Given the description of an element on the screen output the (x, y) to click on. 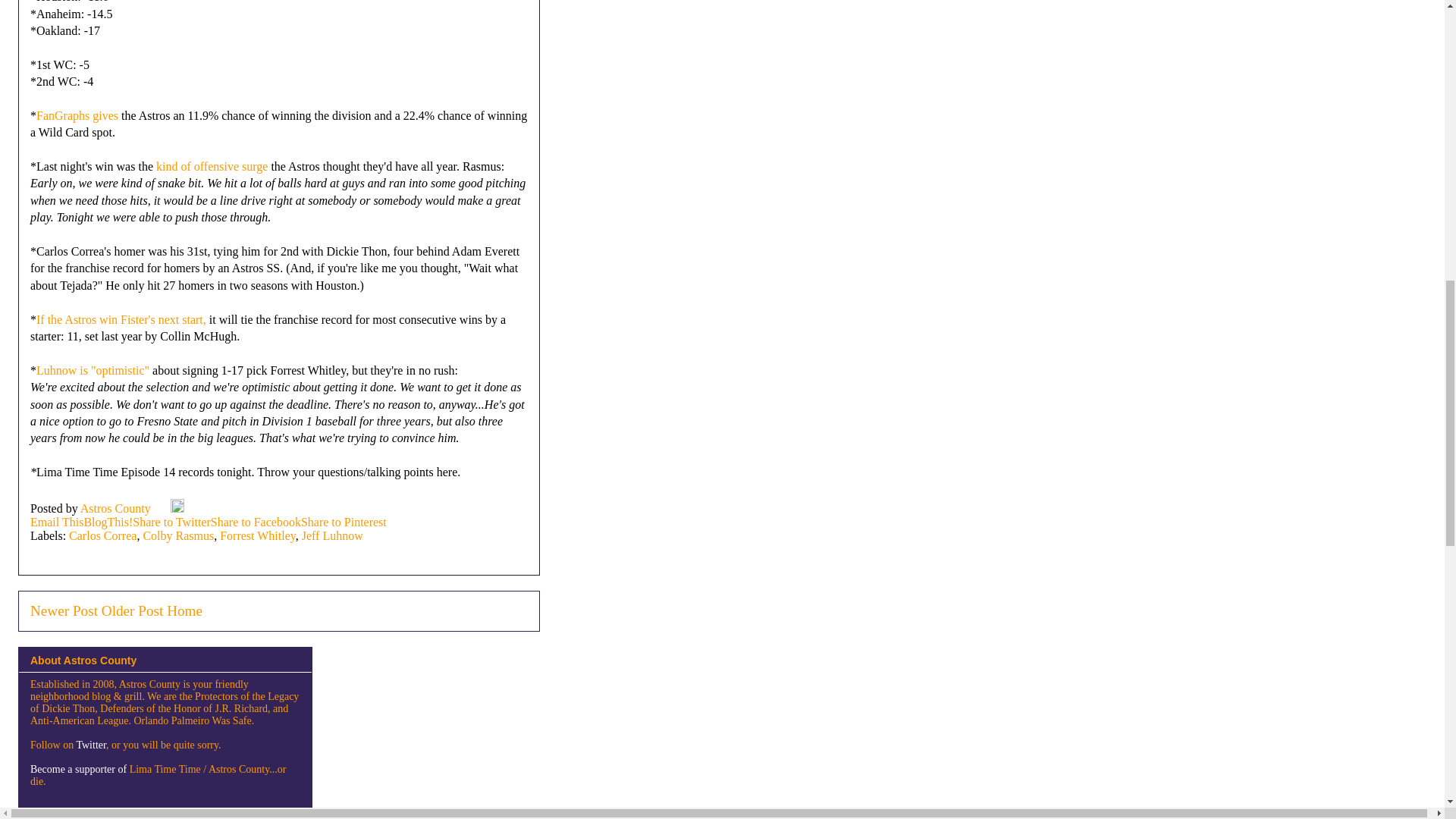
Share to Pinterest (344, 521)
If the Astros win Fister's next start, (121, 318)
Newer Post (63, 610)
Twitter (90, 745)
Older Post (132, 610)
Edit Post (177, 508)
Astros County (117, 508)
Home (184, 610)
author profile (117, 508)
Share to Facebook (256, 521)
Newer Post (63, 610)
Share to Facebook (256, 521)
BlogThis! (107, 521)
Share to Pinterest (344, 521)
Email Post (162, 508)
